Given the description of an element on the screen output the (x, y) to click on. 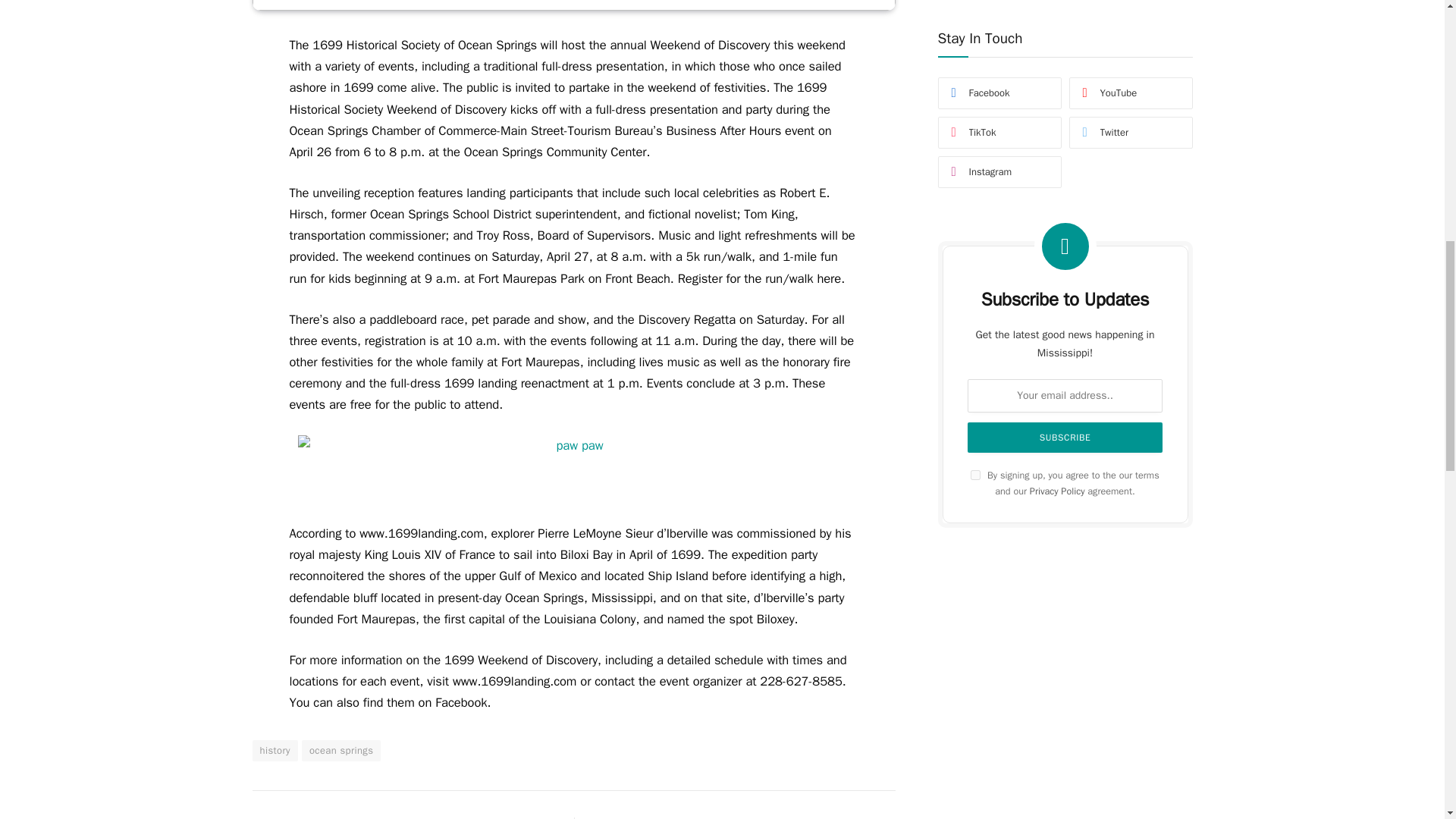
on (975, 69)
Subscribe (1064, 31)
